Given the description of an element on the screen output the (x, y) to click on. 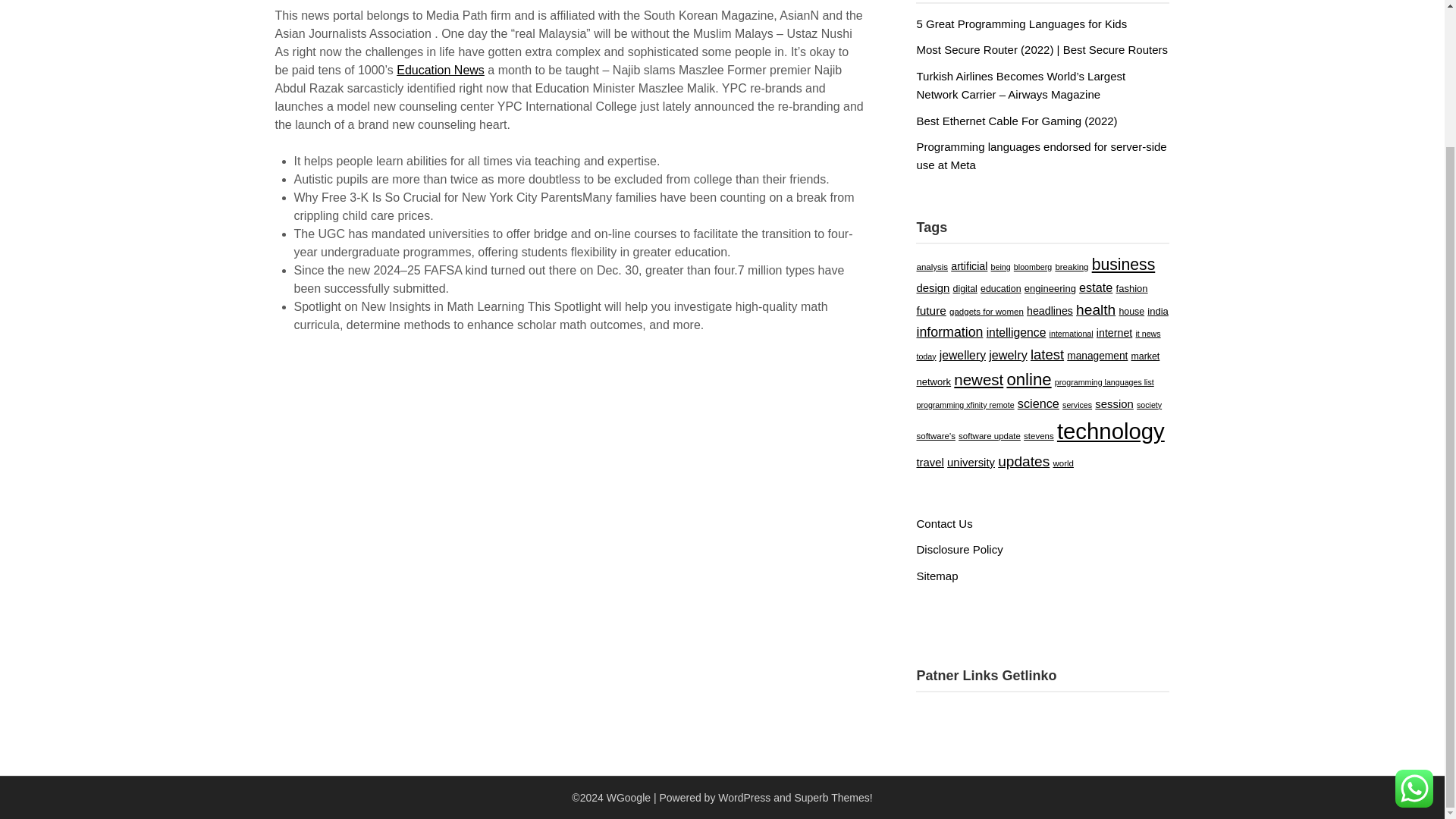
breaking (1070, 266)
international (1071, 333)
india (1158, 310)
internet (1114, 332)
future (929, 309)
gadgets for women (986, 311)
engineering (1050, 288)
headlines (1049, 310)
information (948, 331)
digital (964, 288)
education (1000, 288)
bloomberg (1032, 266)
house (1131, 311)
health (1095, 309)
design (932, 287)
